Given the description of an element on the screen output the (x, y) to click on. 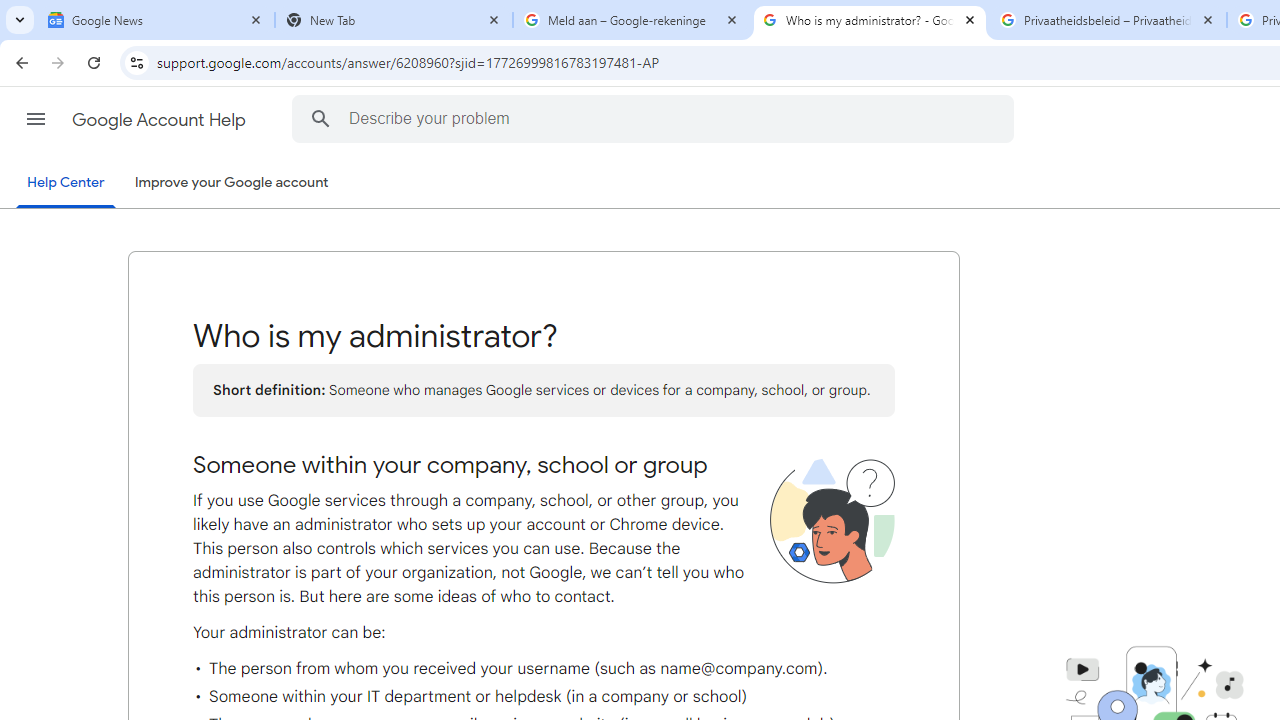
Describe your problem (655, 118)
Google News (156, 20)
